Given the description of an element on the screen output the (x, y) to click on. 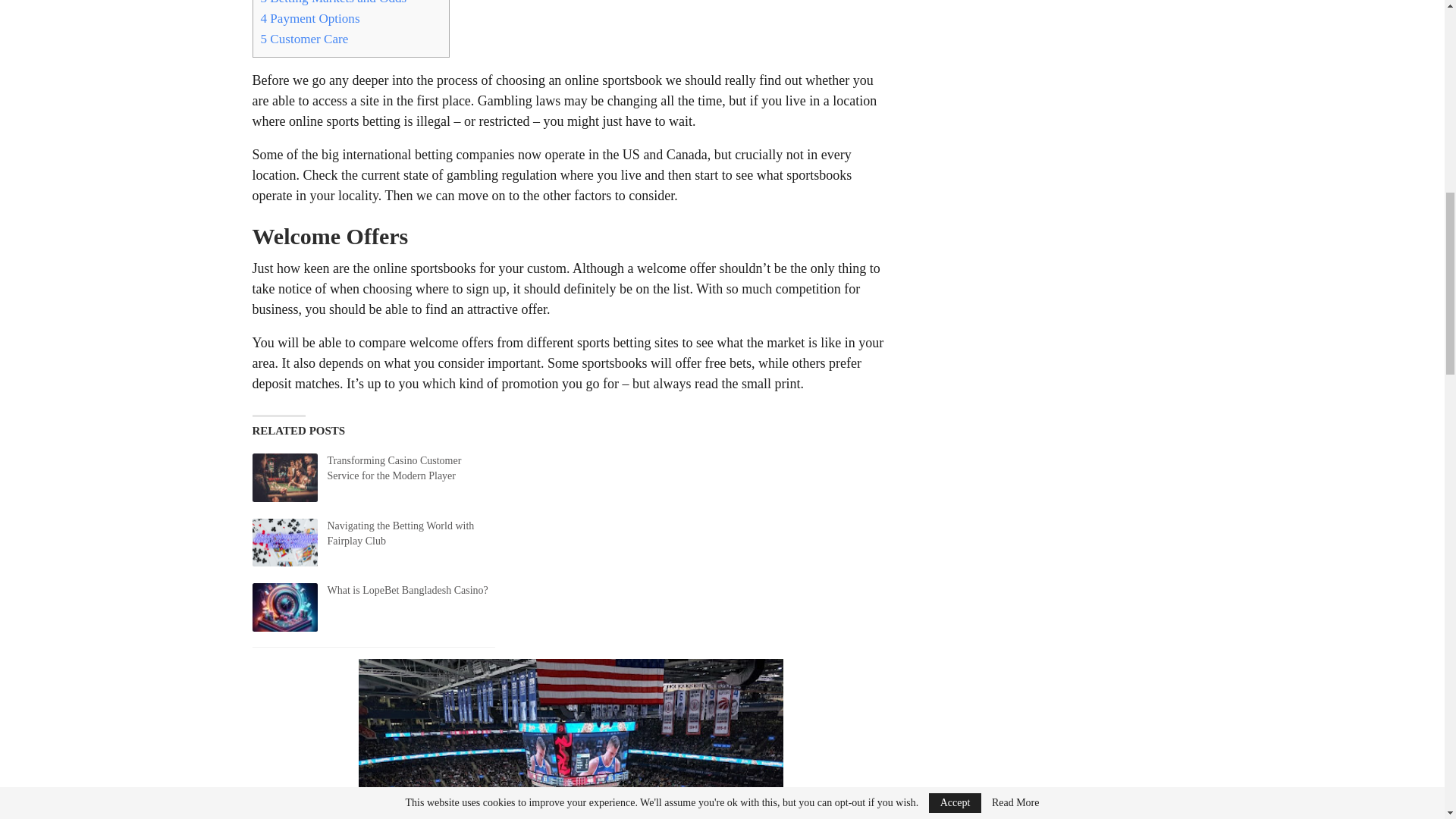
Navigating the Betting World with Fairplay Club (284, 542)
Transforming Casino Customer Service for the Modern Player (284, 477)
What is LopeBet Bangladesh Casino? (284, 607)
